Given the description of an element on the screen output the (x, y) to click on. 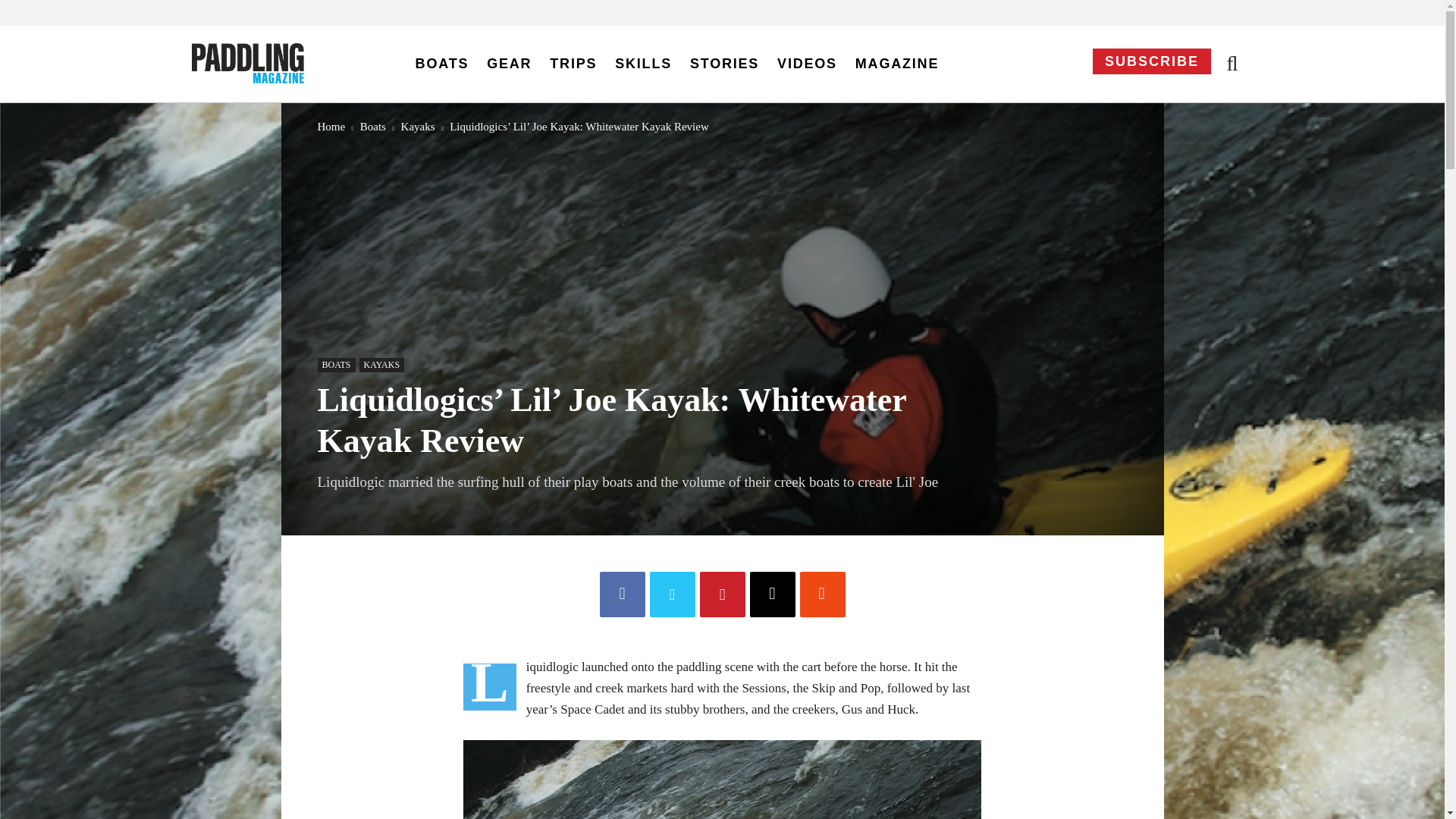
View all posts in Boats (372, 125)
Facebook (621, 594)
Twitter (671, 594)
Email (771, 594)
View all posts in Kayaks (418, 125)
Pinterest (721, 594)
